Given the description of an element on the screen output the (x, y) to click on. 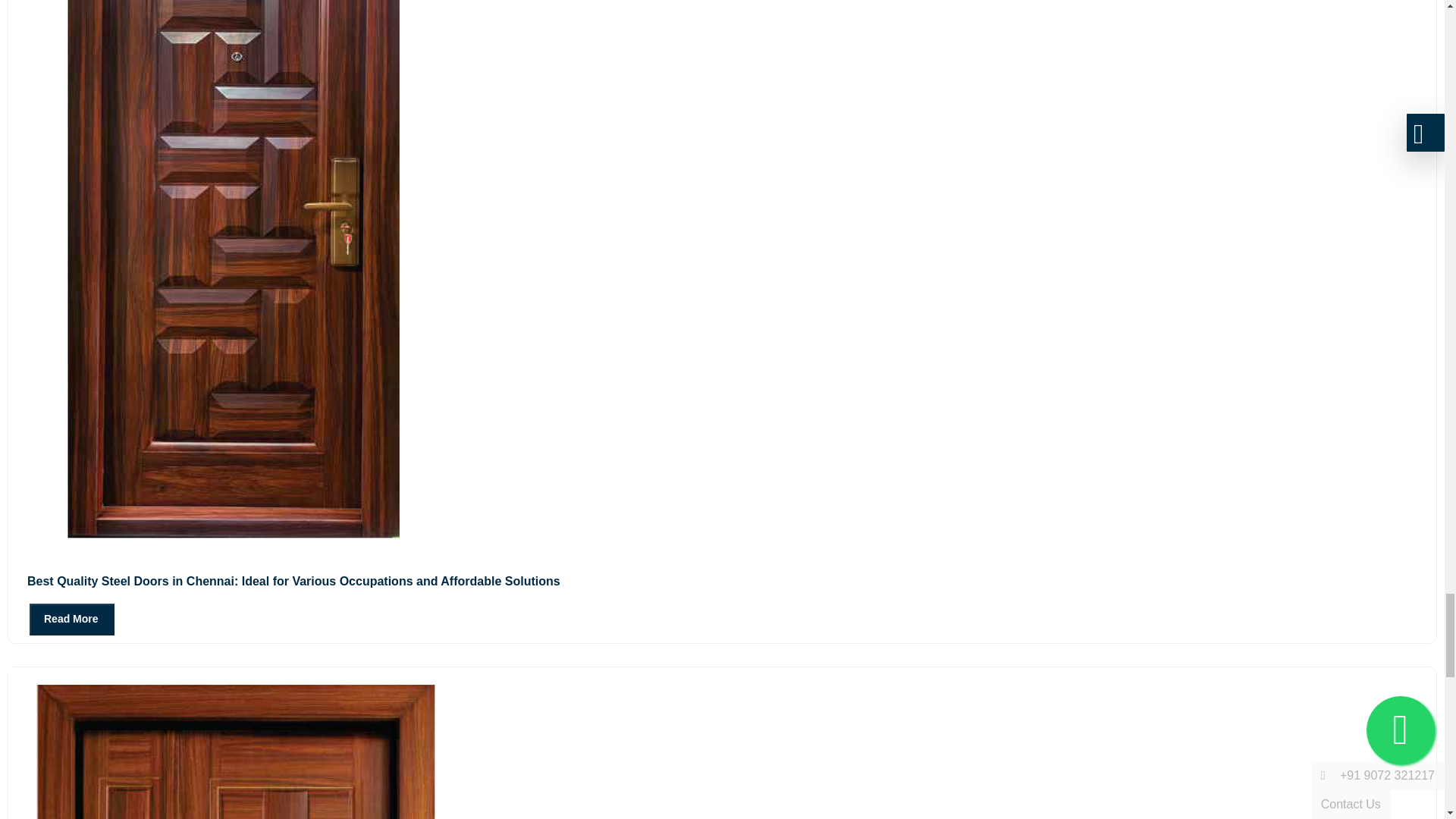
Read More (72, 619)
Read More (61, 617)
